Given the description of an element on the screen output the (x, y) to click on. 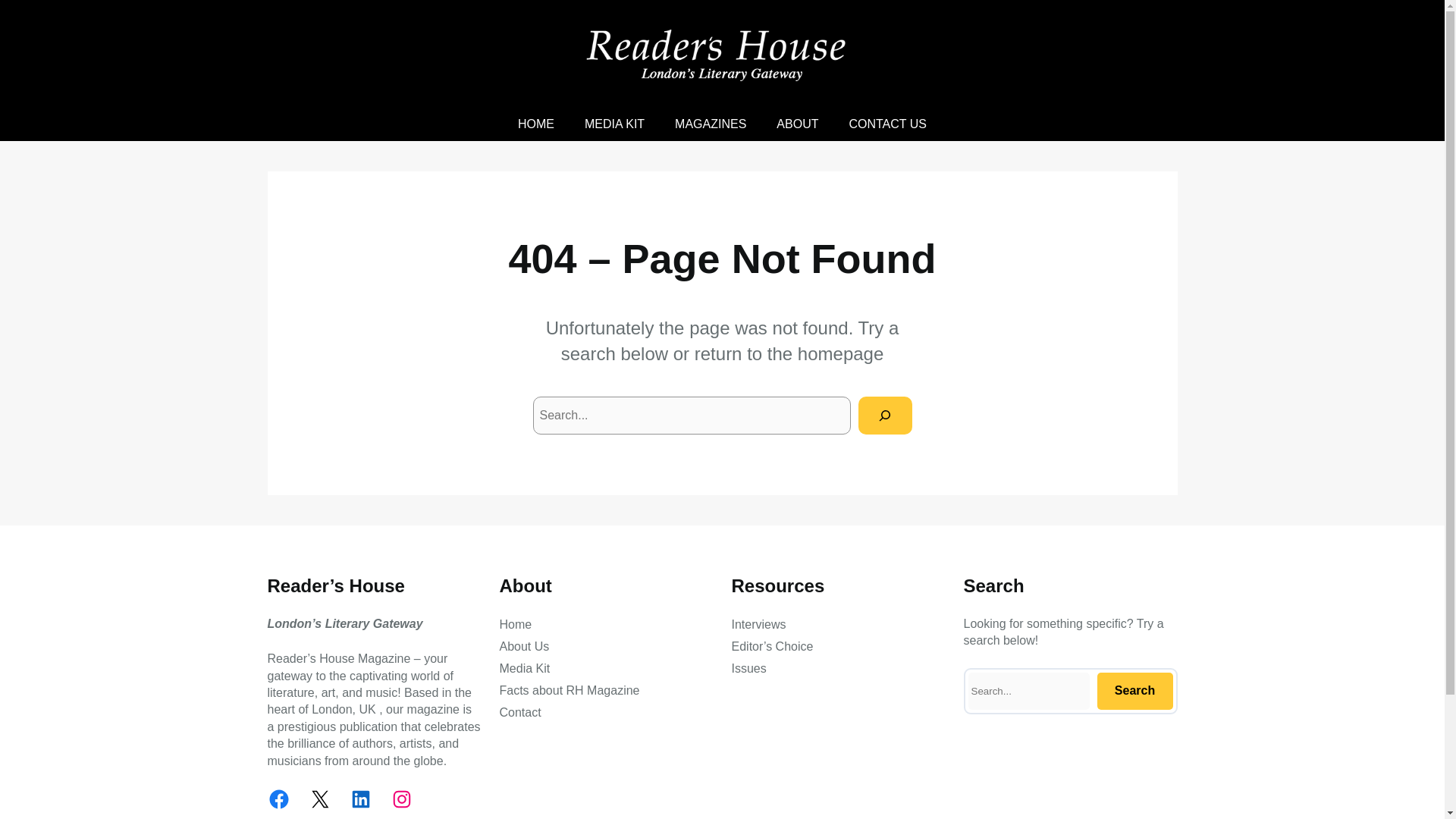
LinkedIn (360, 798)
About Us (523, 647)
Media Kit (524, 669)
Issues (747, 669)
Instagram (401, 798)
Contact (519, 712)
MEDIA KIT (615, 124)
homepage (840, 353)
ABOUT (797, 124)
Facebook (277, 798)
